Given the description of an element on the screen output the (x, y) to click on. 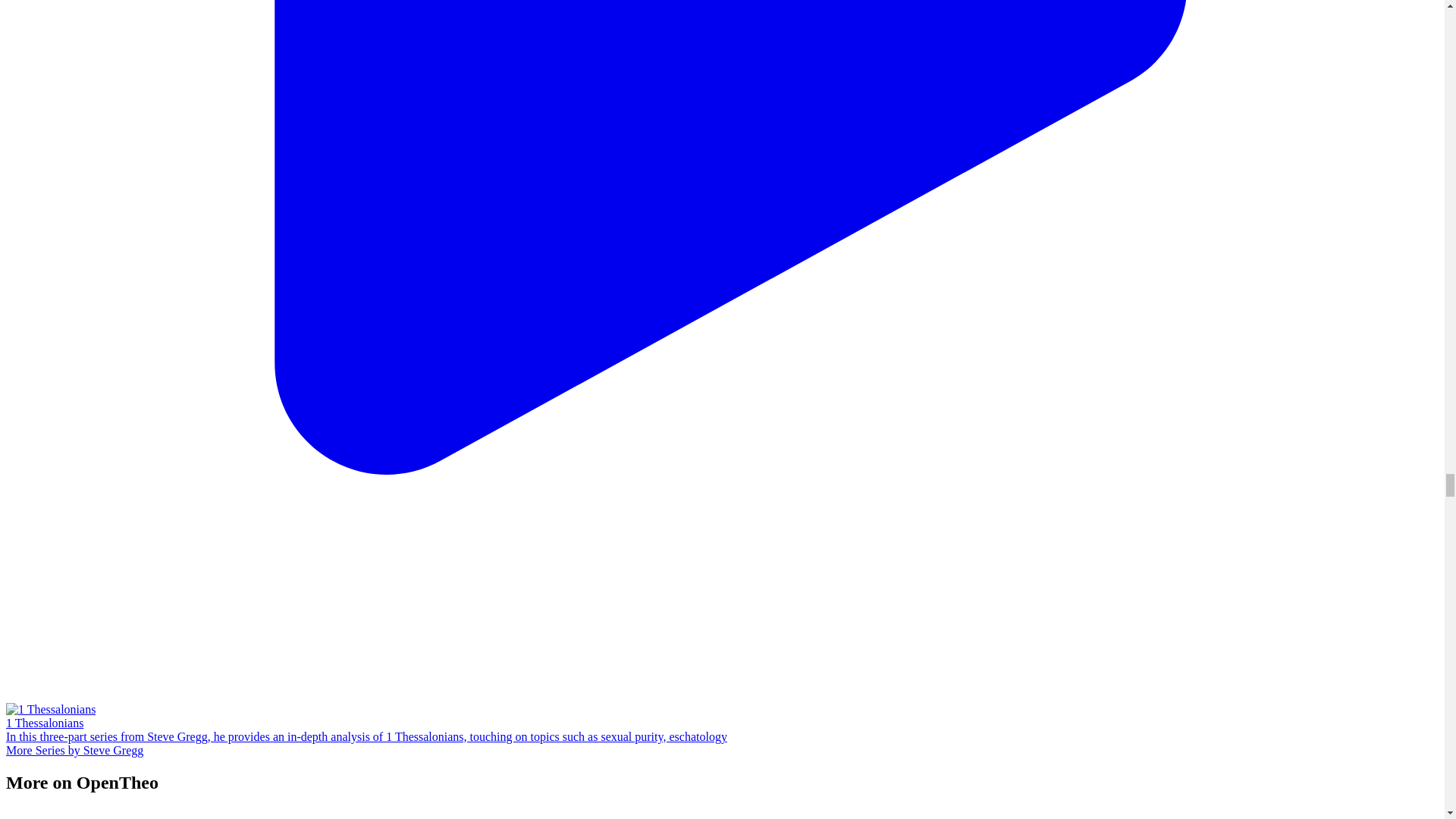
More Series by Steve Gregg (73, 749)
